Given the description of an element on the screen output the (x, y) to click on. 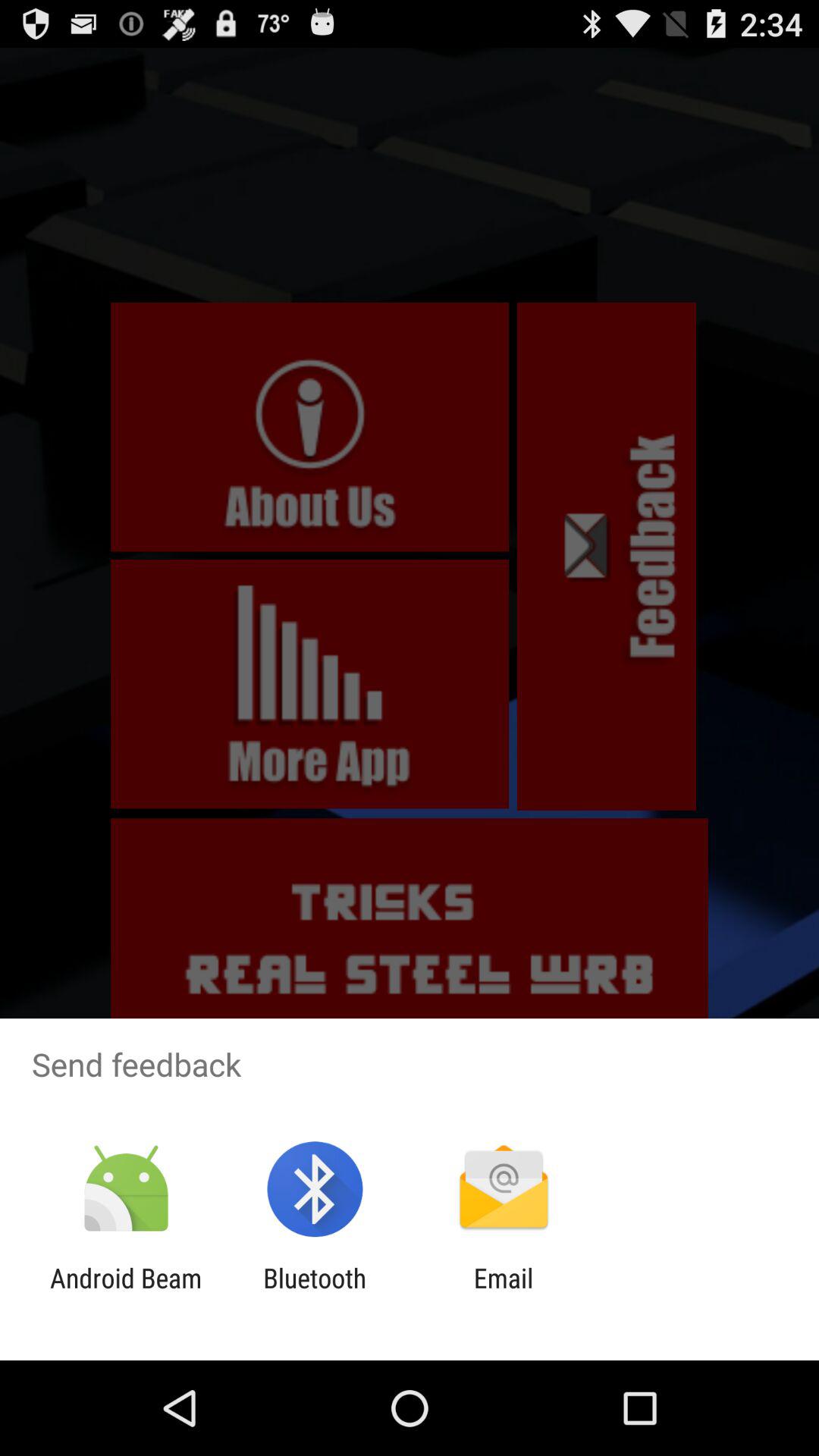
press the item next to the bluetooth item (125, 1293)
